Given the description of an element on the screen output the (x, y) to click on. 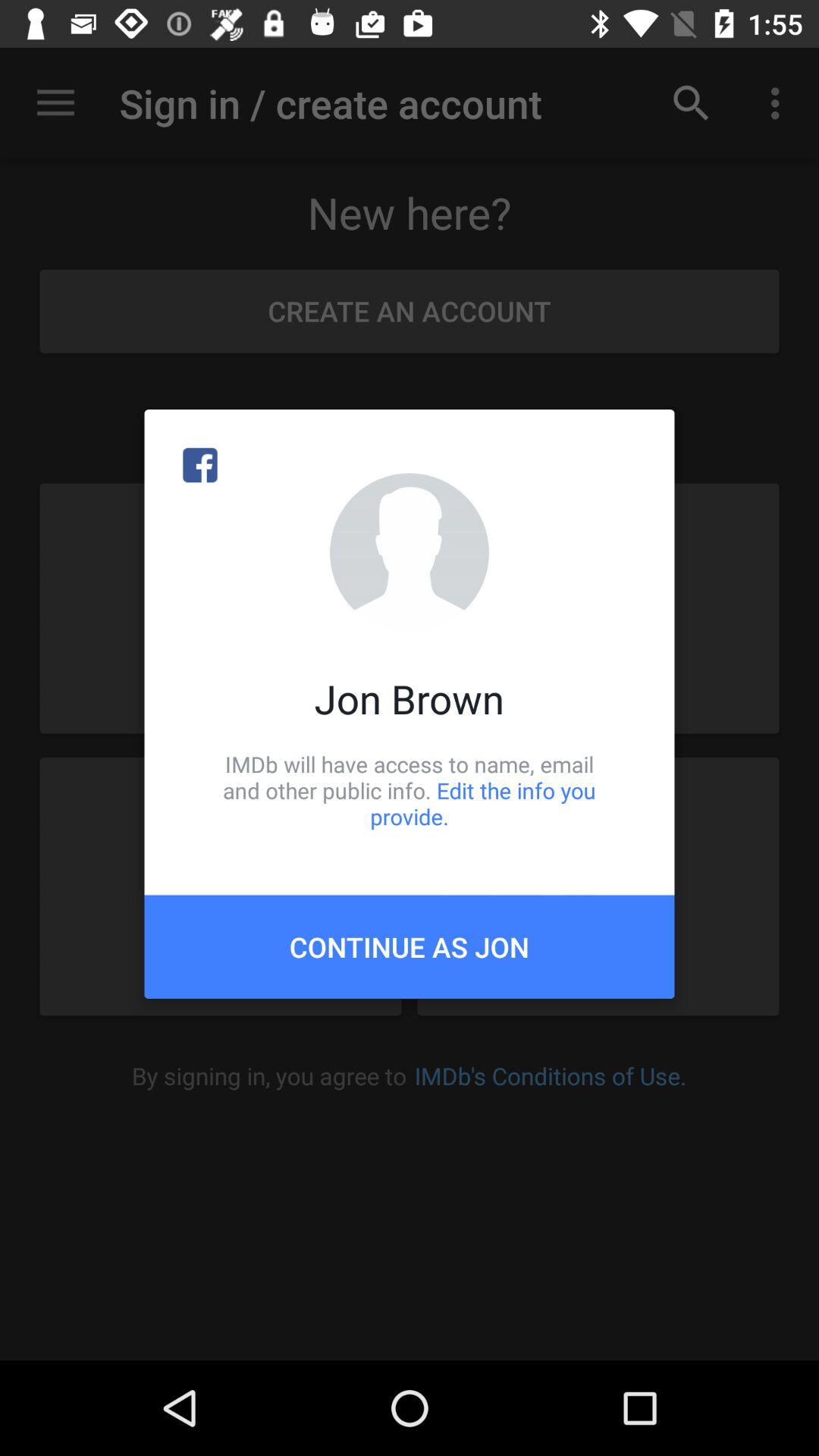
select the item below jon brown icon (409, 790)
